Given the description of an element on the screen output the (x, y) to click on. 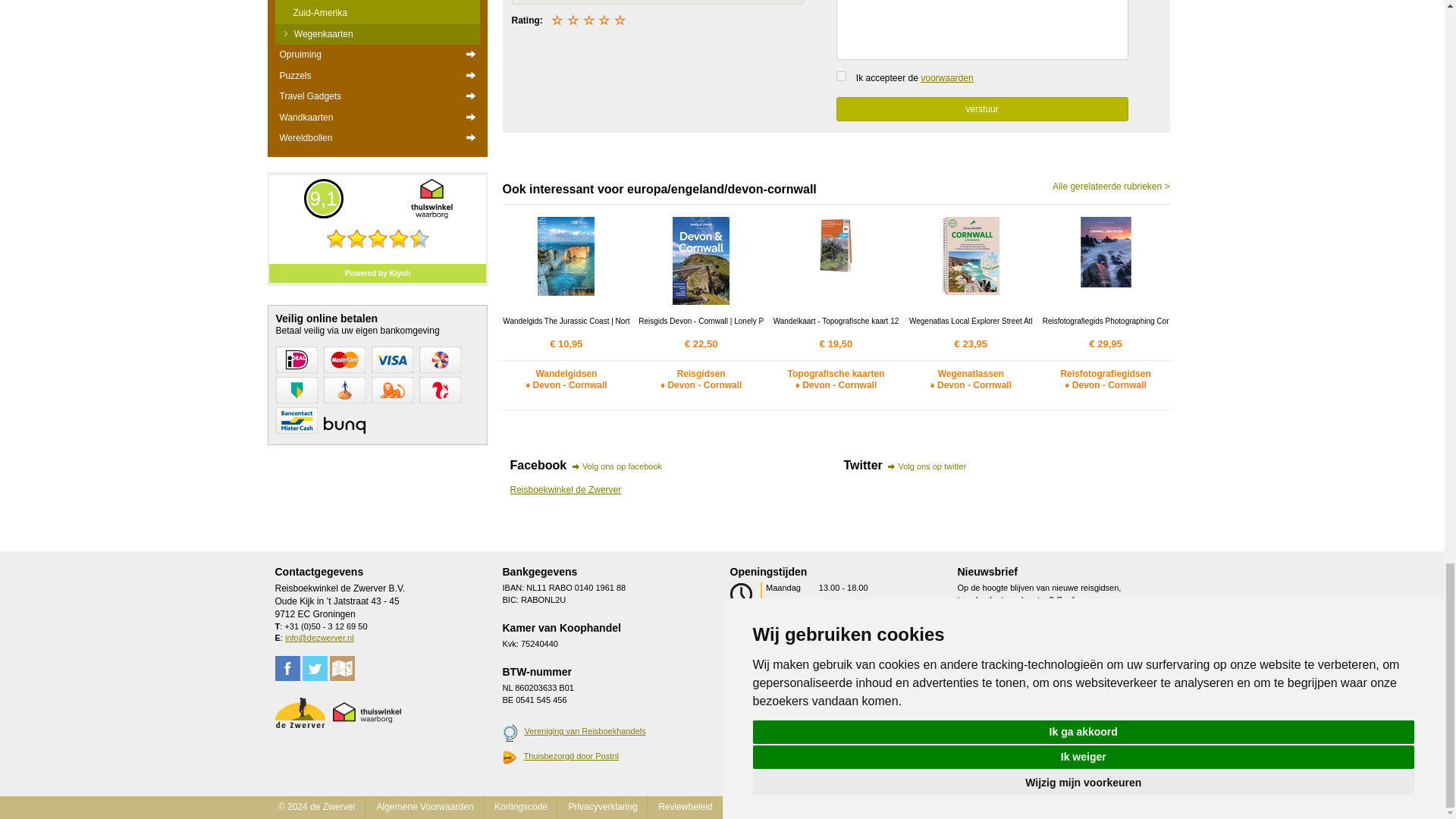
verstuur (980, 109)
on (840, 76)
